Given the description of an element on the screen output the (x, y) to click on. 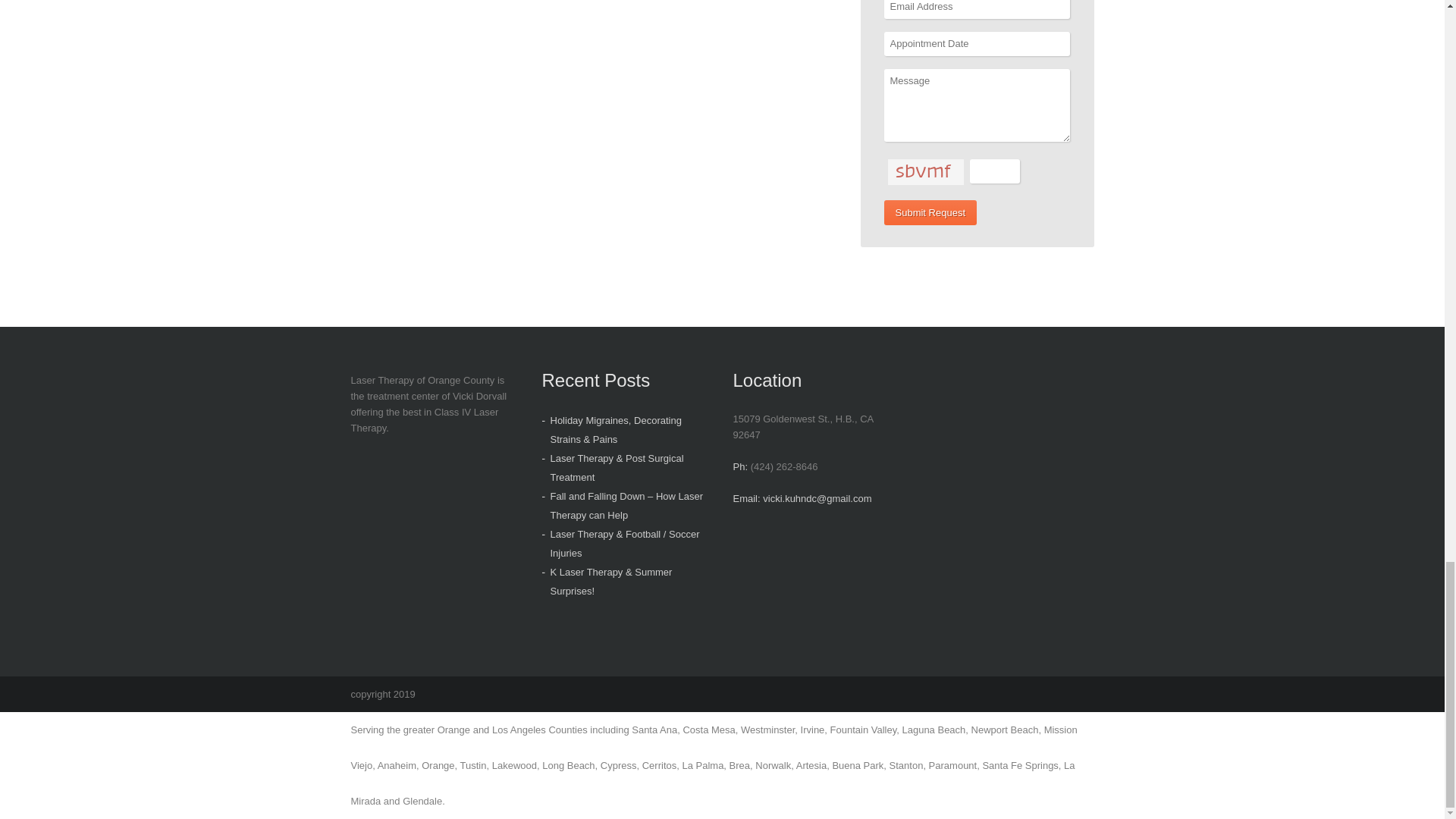
Submit Request (929, 212)
